Given the description of an element on the screen output the (x, y) to click on. 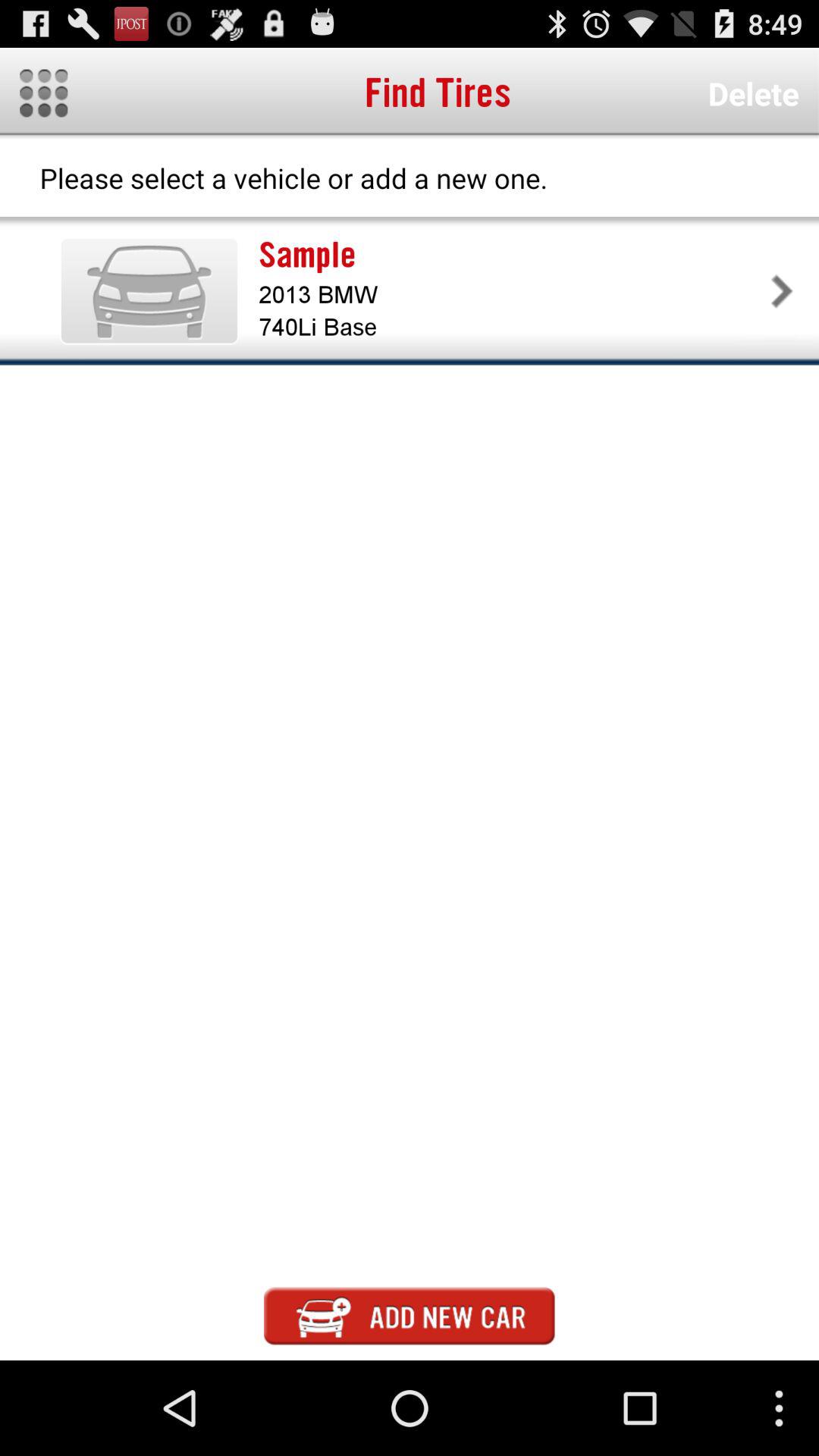
launch the icon above the sample item (753, 92)
